Given the description of an element on the screen output the (x, y) to click on. 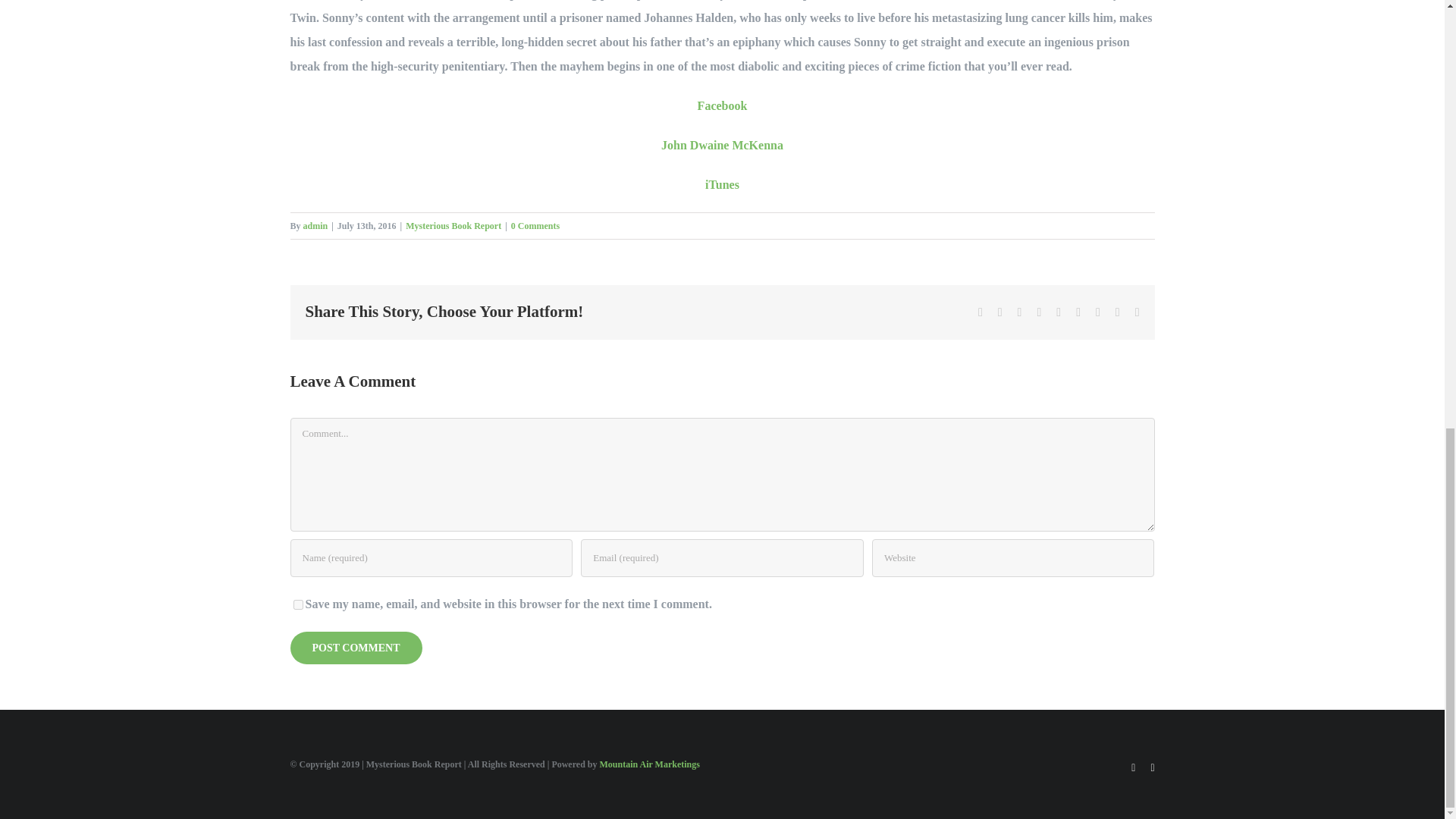
iTunes (721, 184)
Posts by admin (315, 225)
Post Comment (355, 646)
John Dwaine McKenna (722, 144)
yes (297, 604)
0 Comments (535, 225)
Mysterious Book Report (453, 225)
admin (315, 225)
Facebook (722, 105)
